Given the description of an element on the screen output the (x, y) to click on. 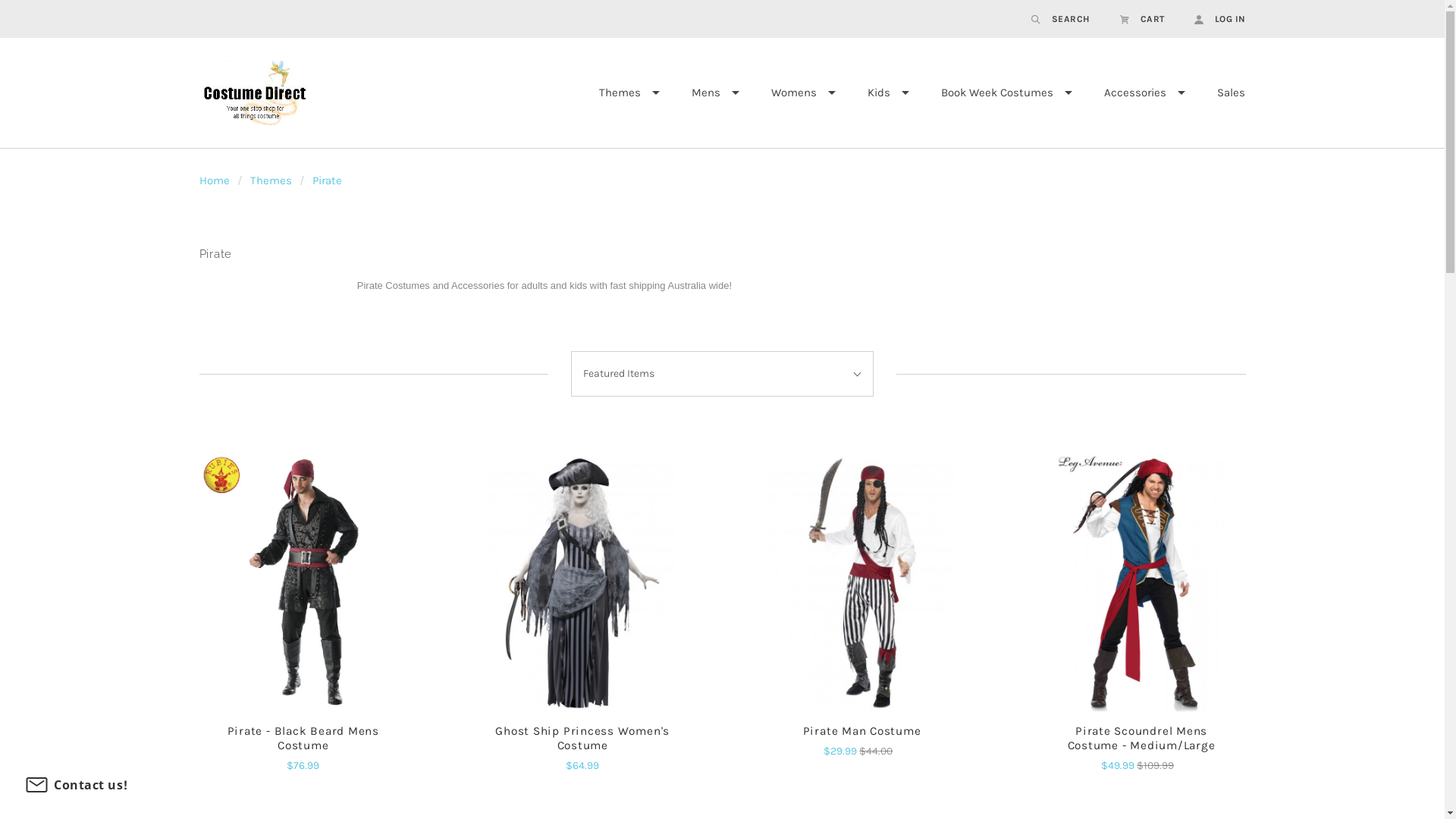
Pirate Scoundrel Mens Costume - medium/large Element type: hover (1141, 582)
Themes Element type: text (270, 180)
Pirate - Black Beard Mens Costume Element type: text (303, 738)
Ghost Ship Princess Women'S Costume Element type: text (582, 738)
Themes Element type: text (628, 92)
Home Element type: text (213, 180)
Book Week Costumes Element type: text (1006, 92)
Pirate Scoundrel Mens Costume - Medium/Large Element type: text (1141, 738)
LOG IN Element type: text (1211, 18)
Womens Element type: text (803, 92)
Contact us! Element type: text (75, 784)
SEARCH Element type: text (1060, 18)
Kids Element type: text (887, 92)
Sales Element type: text (1230, 92)
CART Element type: text (1141, 18)
Pirate Man Costume Element type: hover (861, 582)
Pirate Element type: text (327, 180)
Pirate - Black Beard Mens Costume Element type: hover (302, 582)
Mens Element type: text (714, 92)
Accessories Element type: text (1143, 92)
Ghost Ship Princess Women's Costume Element type: hover (582, 582)
Pirate Man Costume Element type: text (862, 730)
